Given the description of an element on the screen output the (x, y) to click on. 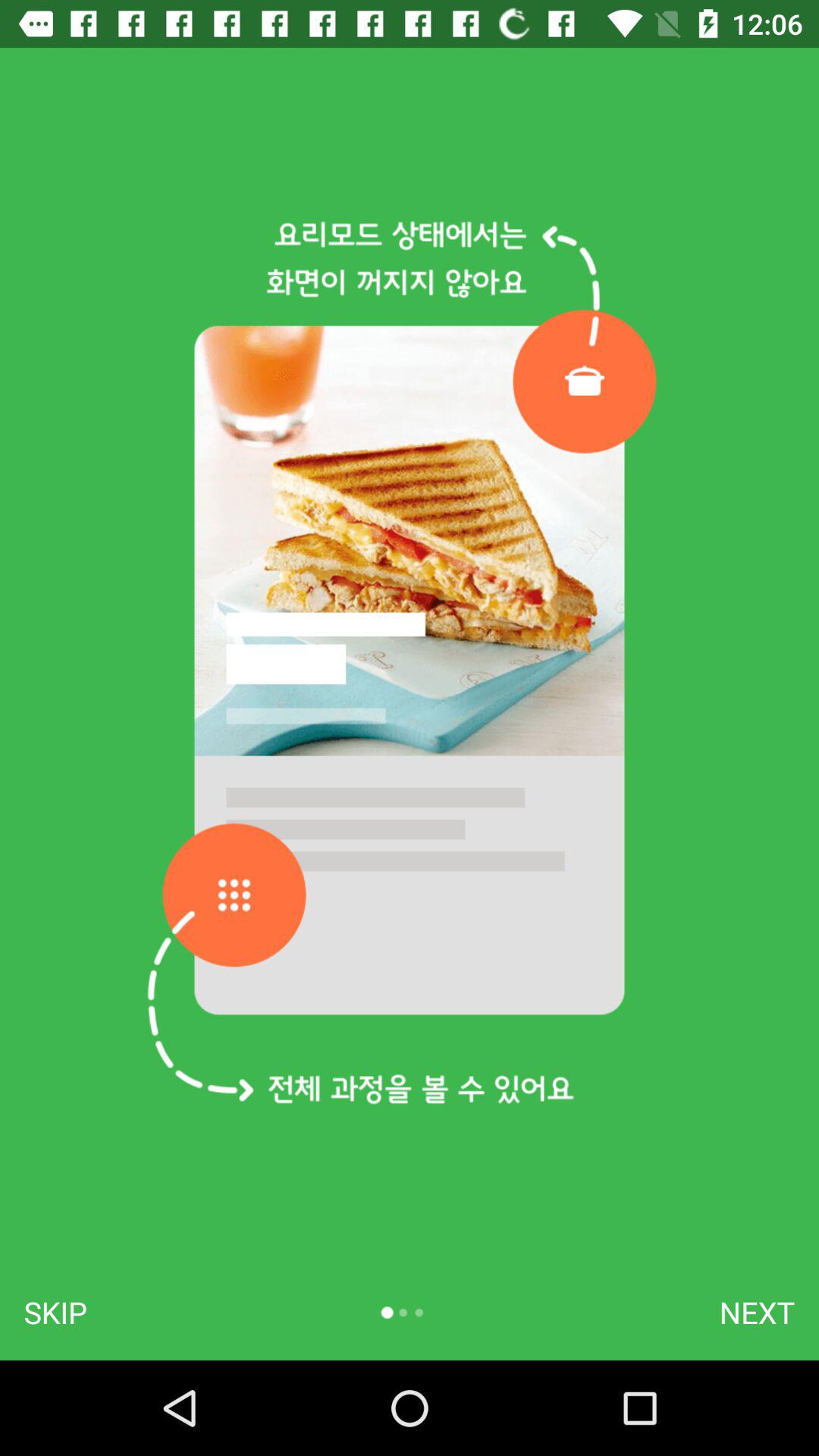
flip to the next item (757, 1312)
